Given the description of an element on the screen output the (x, y) to click on. 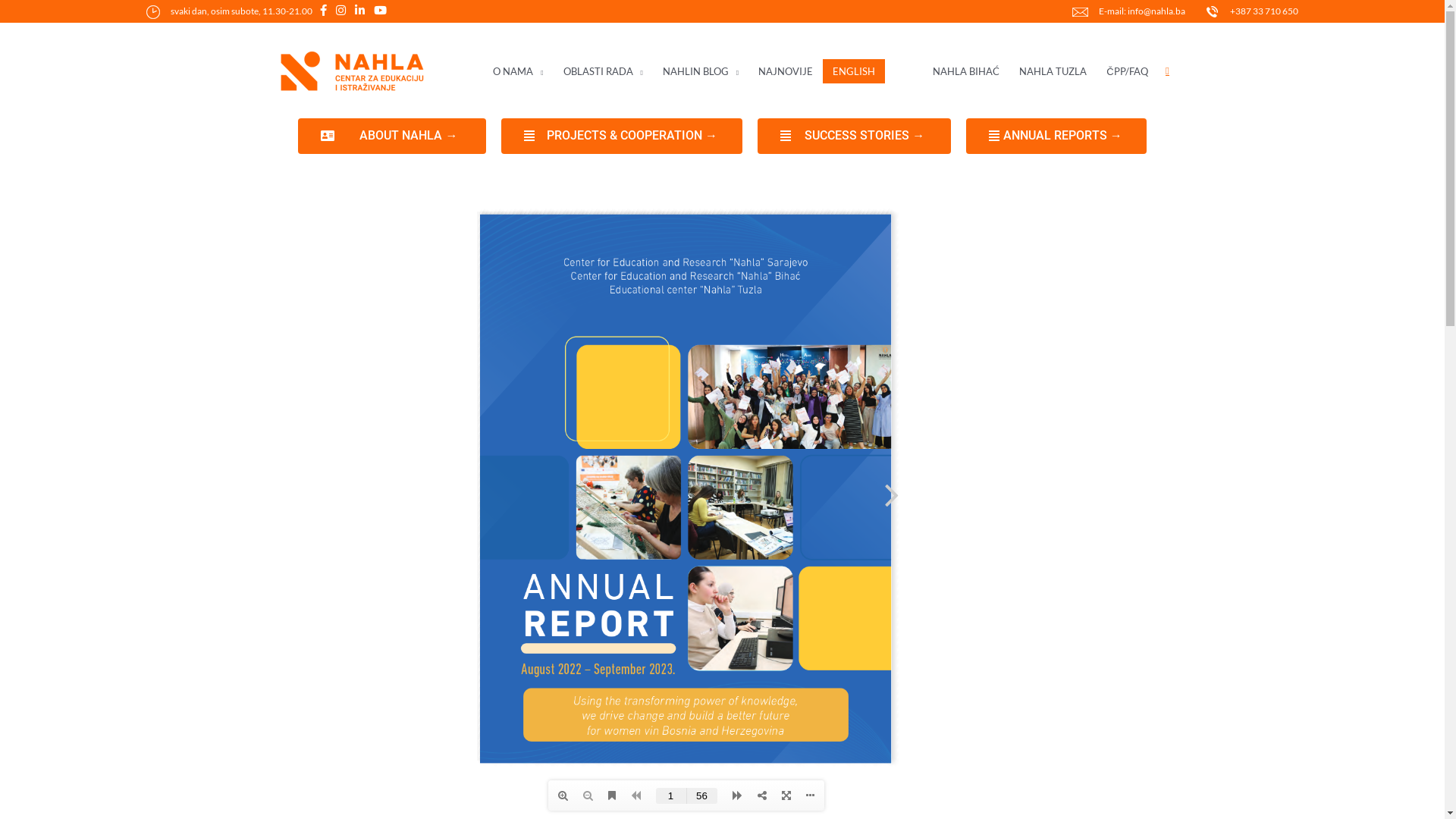
NAHLIN BLOG Element type: text (700, 71)
NAJNOVIJE Element type: text (785, 71)
NAHLA TUZLA Element type: text (1052, 71)
O NAMA Element type: text (517, 71)
View Element type: hover (685, 493)
OBLASTI RADA Element type: text (602, 71)
ENGLISH Element type: text (853, 71)
